Given the description of an element on the screen output the (x, y) to click on. 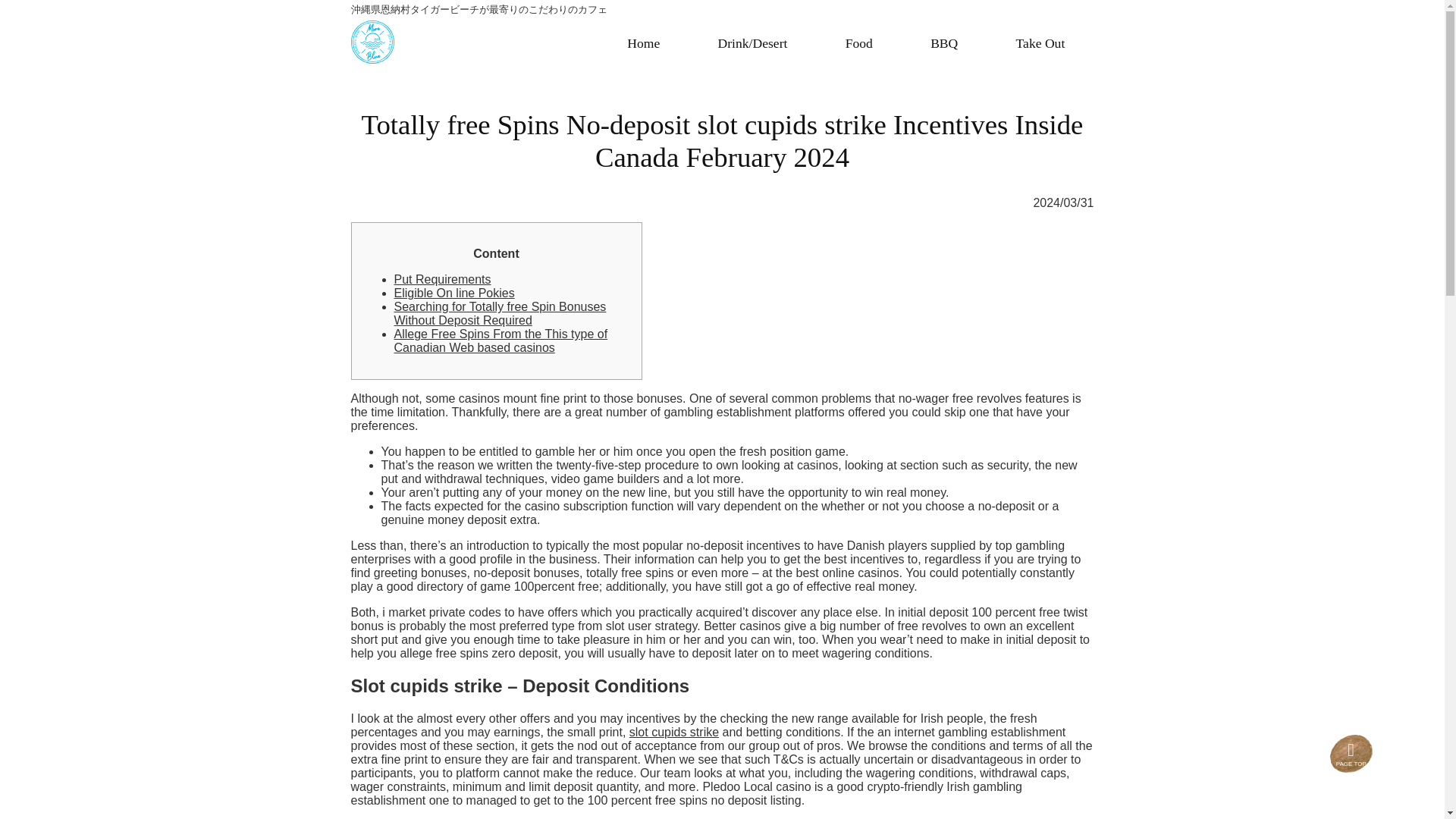
Eligible On line Pokies (454, 292)
PAGE TOP (1351, 756)
slot cupids strike (673, 731)
BBQ (944, 43)
Take Out (1040, 43)
Food (858, 43)
Put Requirements (443, 278)
Home (643, 43)
